Given the description of an element on the screen output the (x, y) to click on. 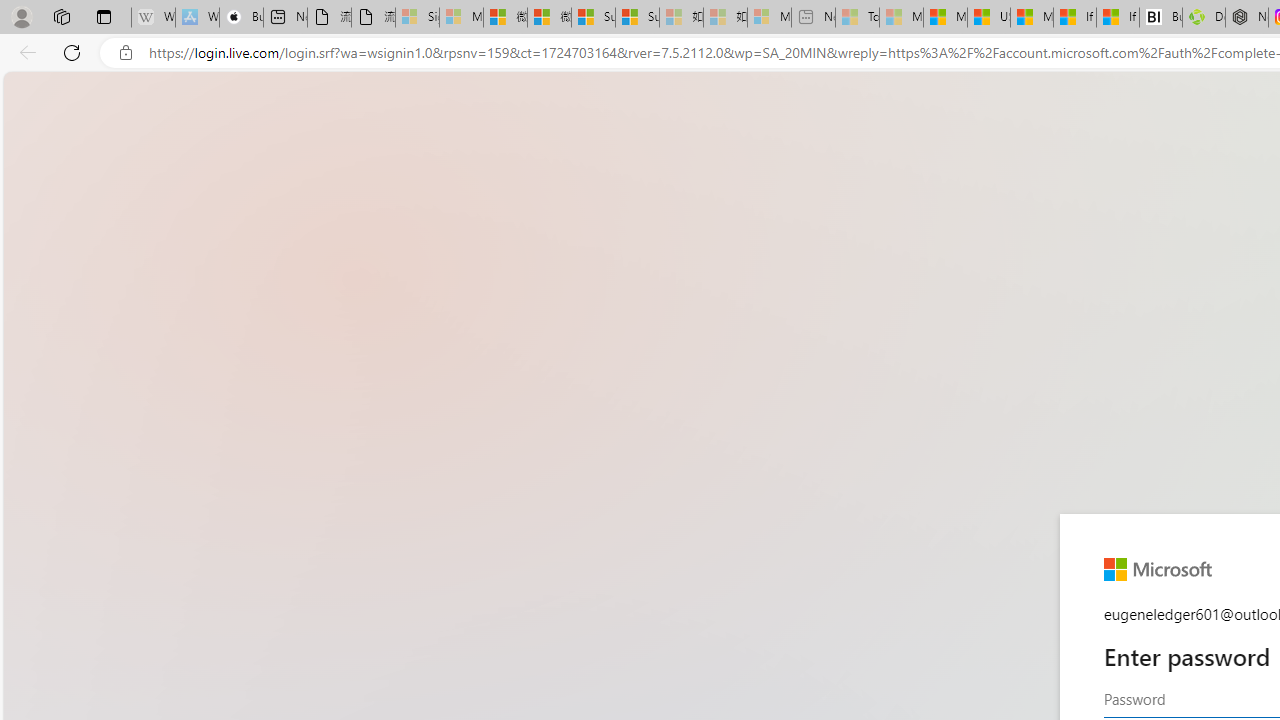
Microsoft account | Account Checkup - Sleeping (769, 17)
Descarga Driver Updater (1203, 17)
Microsoft (1157, 569)
